Given the description of an element on the screen output the (x, y) to click on. 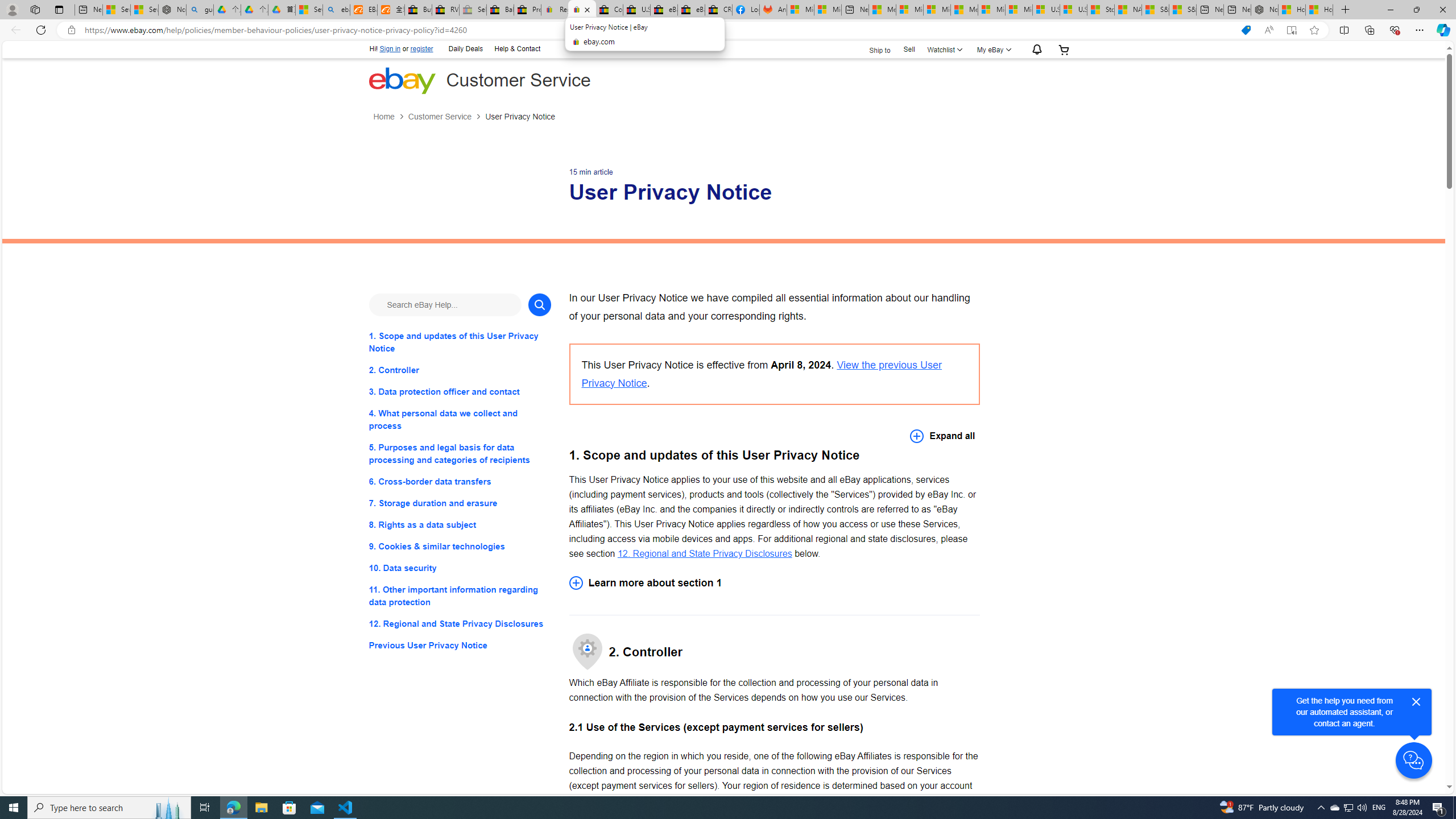
Help & Contact (516, 49)
Expand all (942, 435)
U.S. State Privacy Disclosures - eBay Inc. (636, 9)
Enter Immersive Reader (F9) (1291, 29)
Ship to (872, 48)
Expand Cart (1064, 49)
My eBayExpand My eBay (992, 49)
8. Rights as a data subject (459, 524)
